Given the description of an element on the screen output the (x, y) to click on. 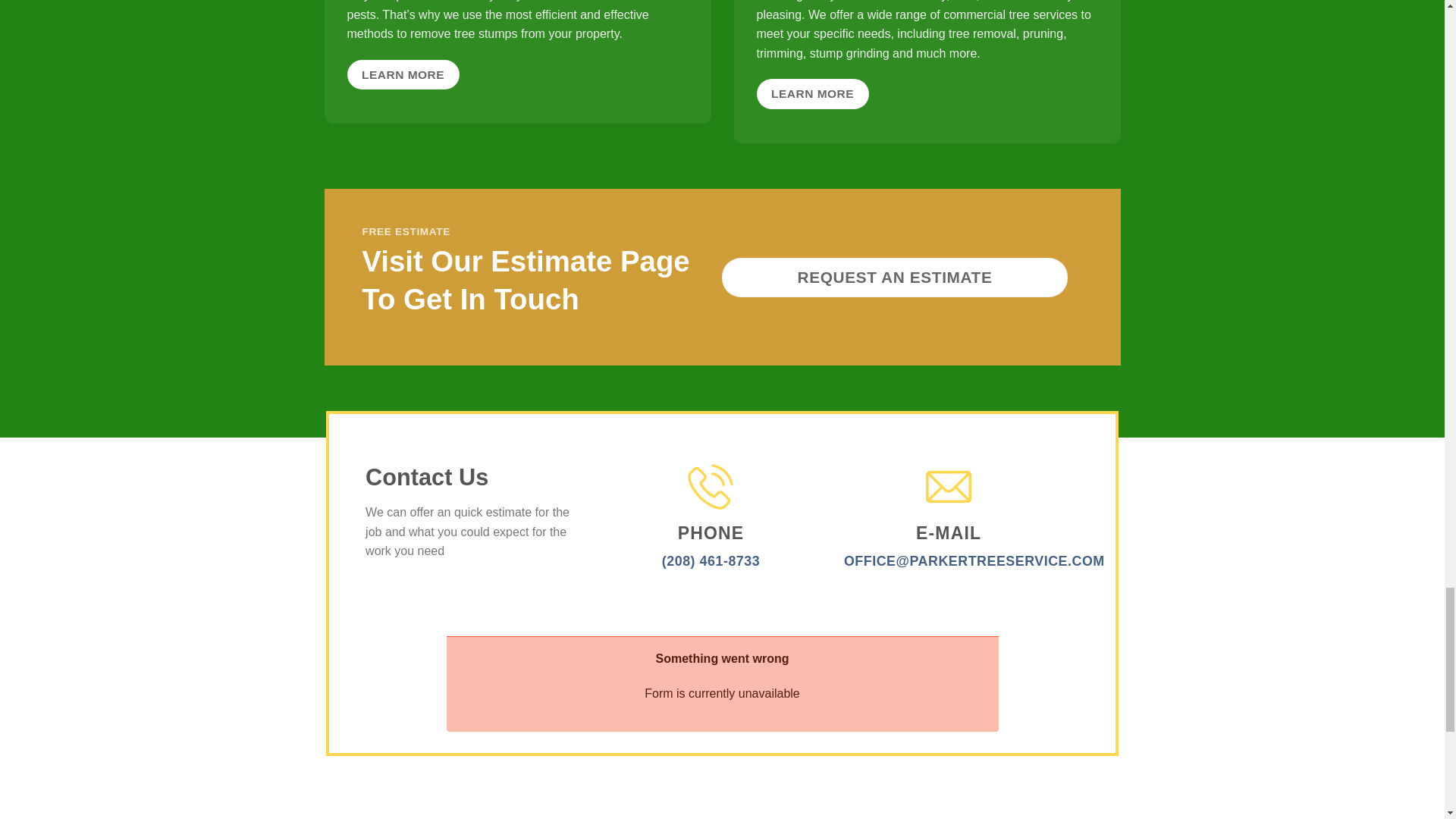
LEARN MORE (403, 74)
REQUEST AN ESTIMATE (894, 277)
PHONE (711, 545)
E-MAIL (949, 545)
LEARN MORE (813, 93)
